Given the description of an element on the screen output the (x, y) to click on. 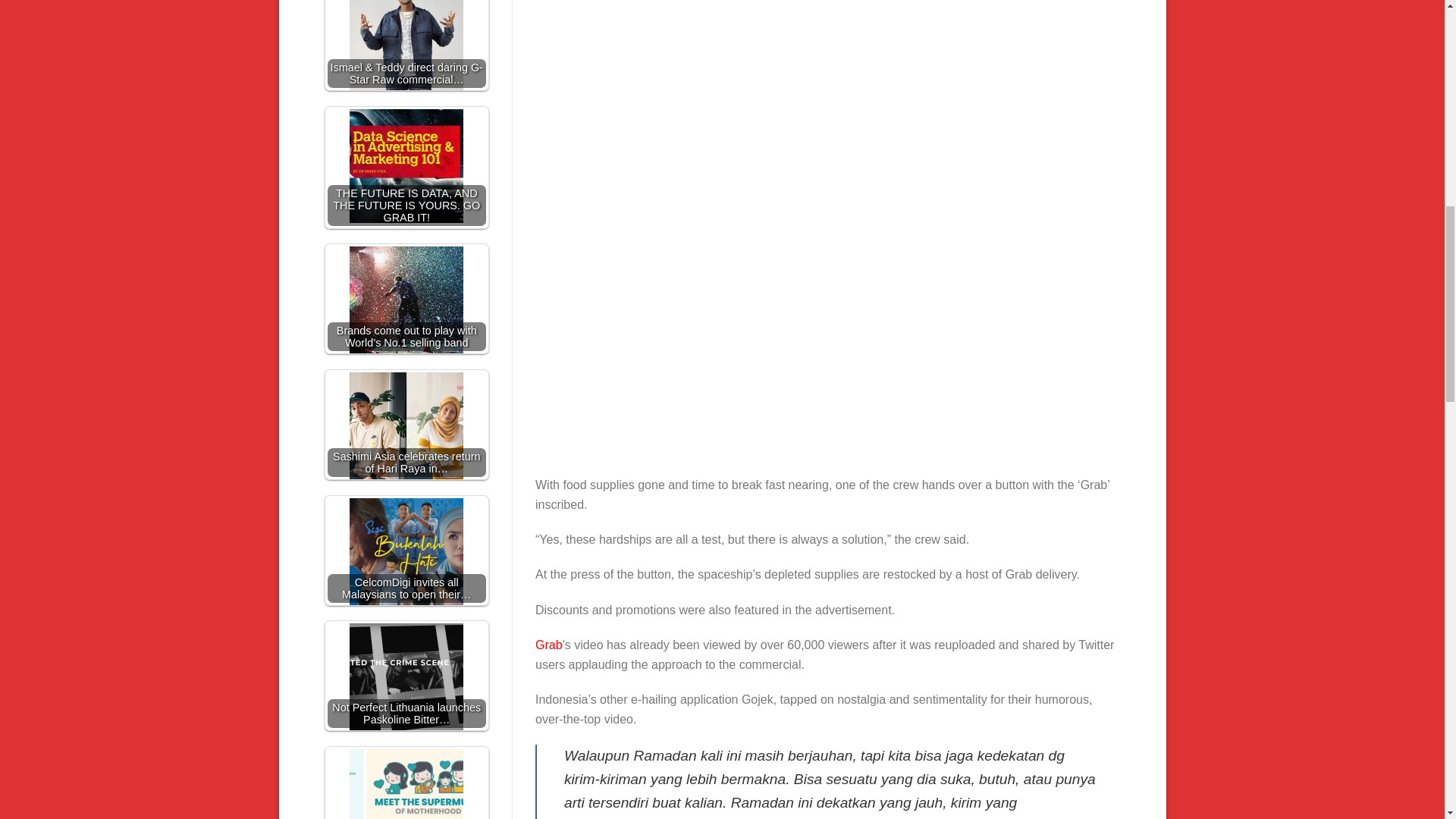
THE FUTURE IS DATA, AND THE FUTURE IS YOURS. GO GRAB IT! (406, 165)
